Given the description of an element on the screen output the (x, y) to click on. 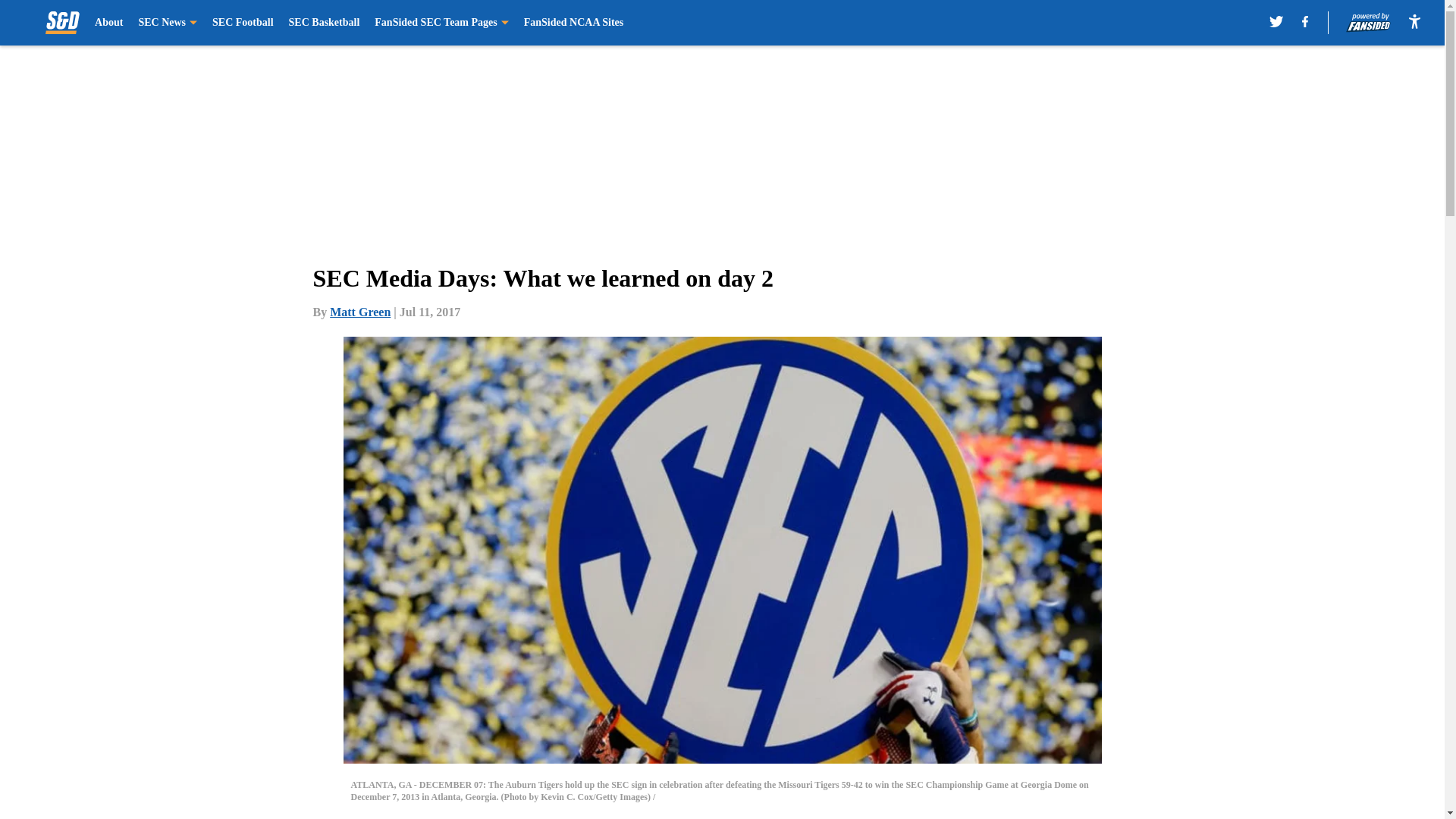
SEC Basketball (323, 22)
Matt Green (360, 311)
FanSided NCAA Sites (573, 22)
SEC Football (242, 22)
About (108, 22)
